Given the description of an element on the screen output the (x, y) to click on. 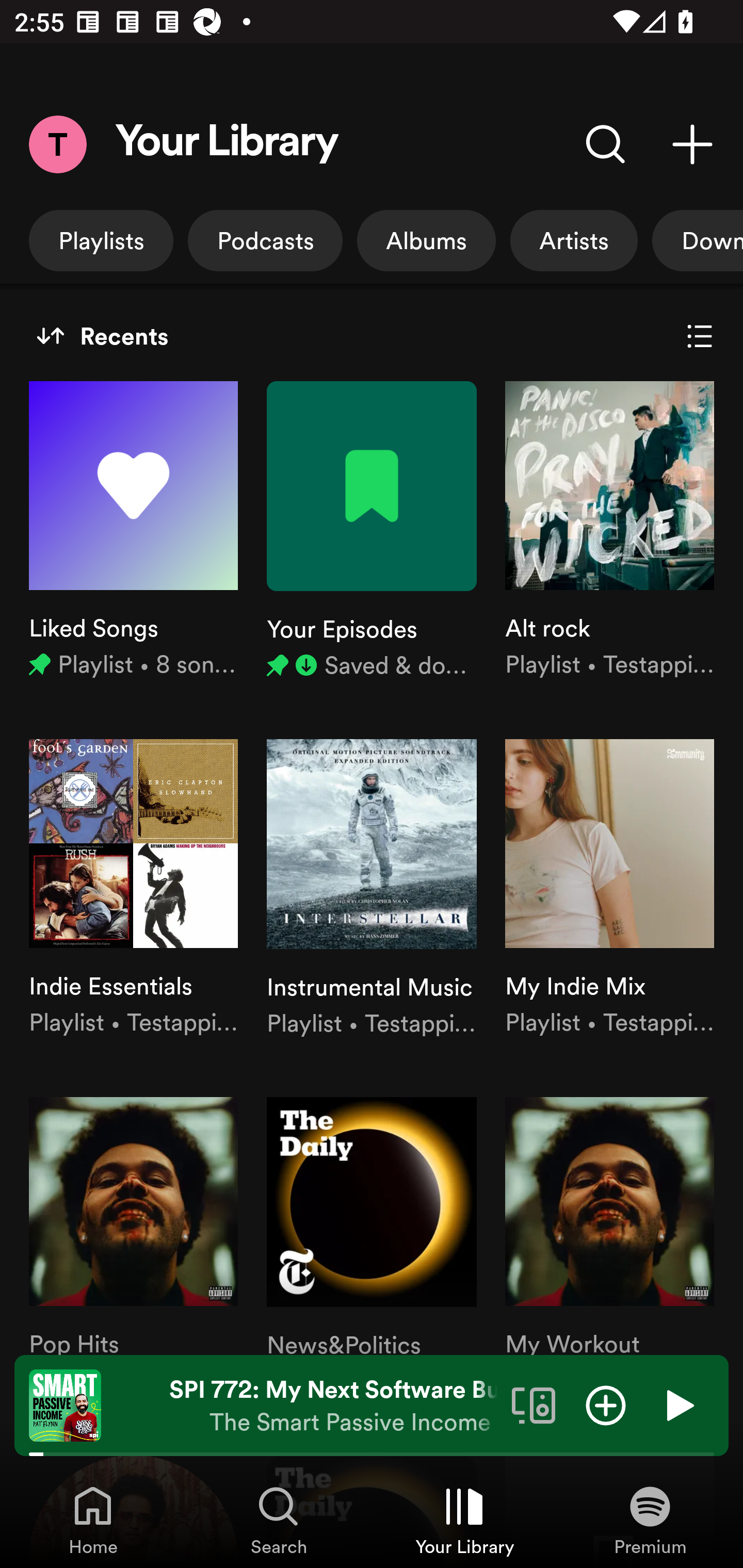
Menu (57, 144)
Search Your Library (605, 144)
Create playlist (692, 144)
Your Library Your Library Heading (226, 144)
Playlists, show only playlists. (100, 240)
Podcasts, show only podcasts. (264, 240)
Albums, show only albums. (426, 240)
Artists, show only artists. (573, 240)
Downloaded, show only downloaded. (697, 240)
Recents (101, 336)
Show List view (699, 336)
The cover art of the currently playing track (64, 1404)
Connect to a device. Opens the devices menu (533, 1404)
Add item (605, 1404)
Play (677, 1404)
Home, Tab 1 of 4 Home Home (92, 1519)
Search, Tab 2 of 4 Search Search (278, 1519)
Your Library, Tab 3 of 4 Your Library Your Library (464, 1519)
Premium, Tab 4 of 4 Premium Premium (650, 1519)
